Given the description of an element on the screen output the (x, y) to click on. 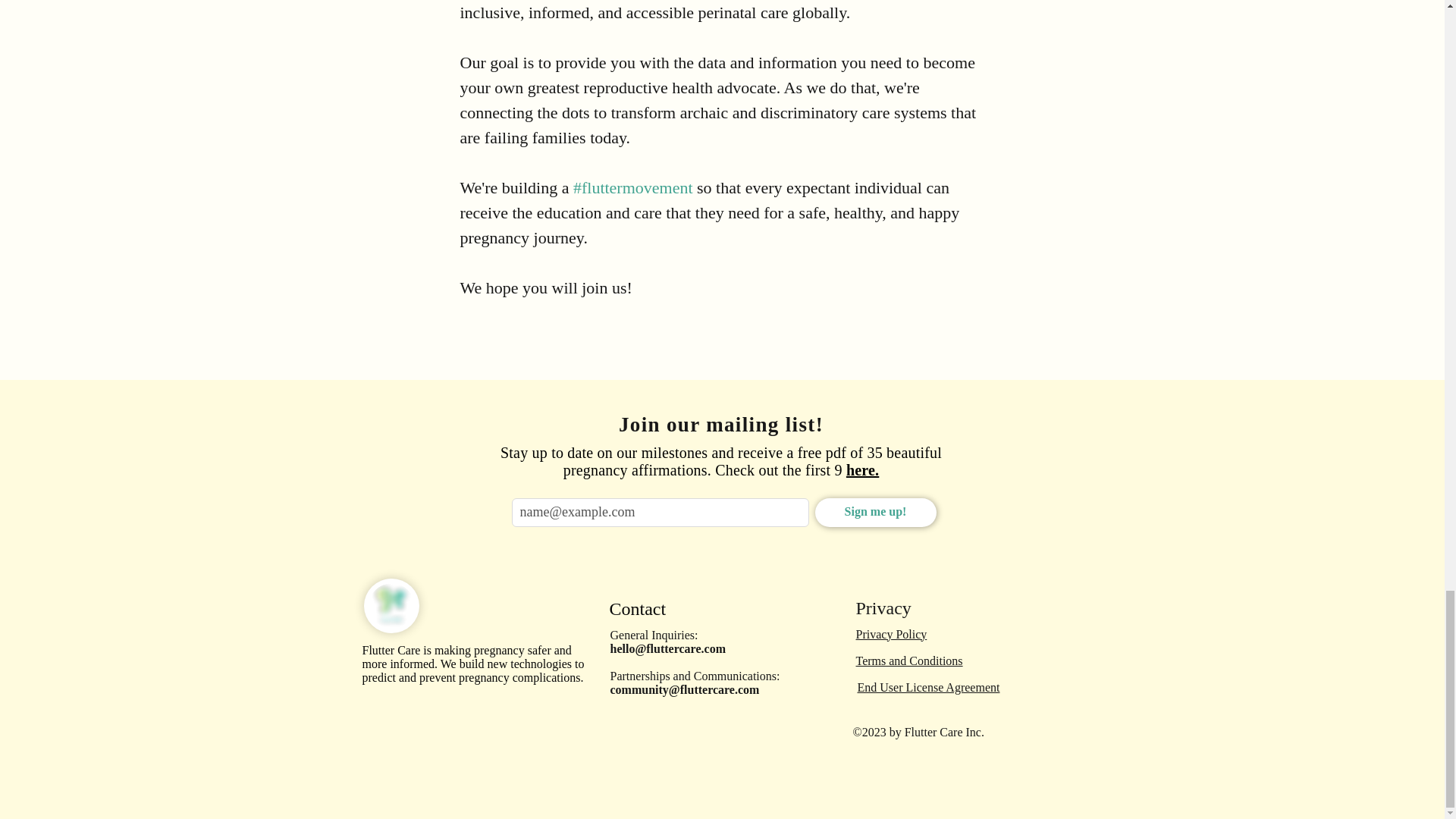
Sign me up! (874, 512)
here. (862, 469)
End User License Agreement (927, 686)
Privacy Policy (891, 634)
Terms and Conditions (909, 660)
color-centered-Flutter.png (391, 605)
